Given the description of an element on the screen output the (x, y) to click on. 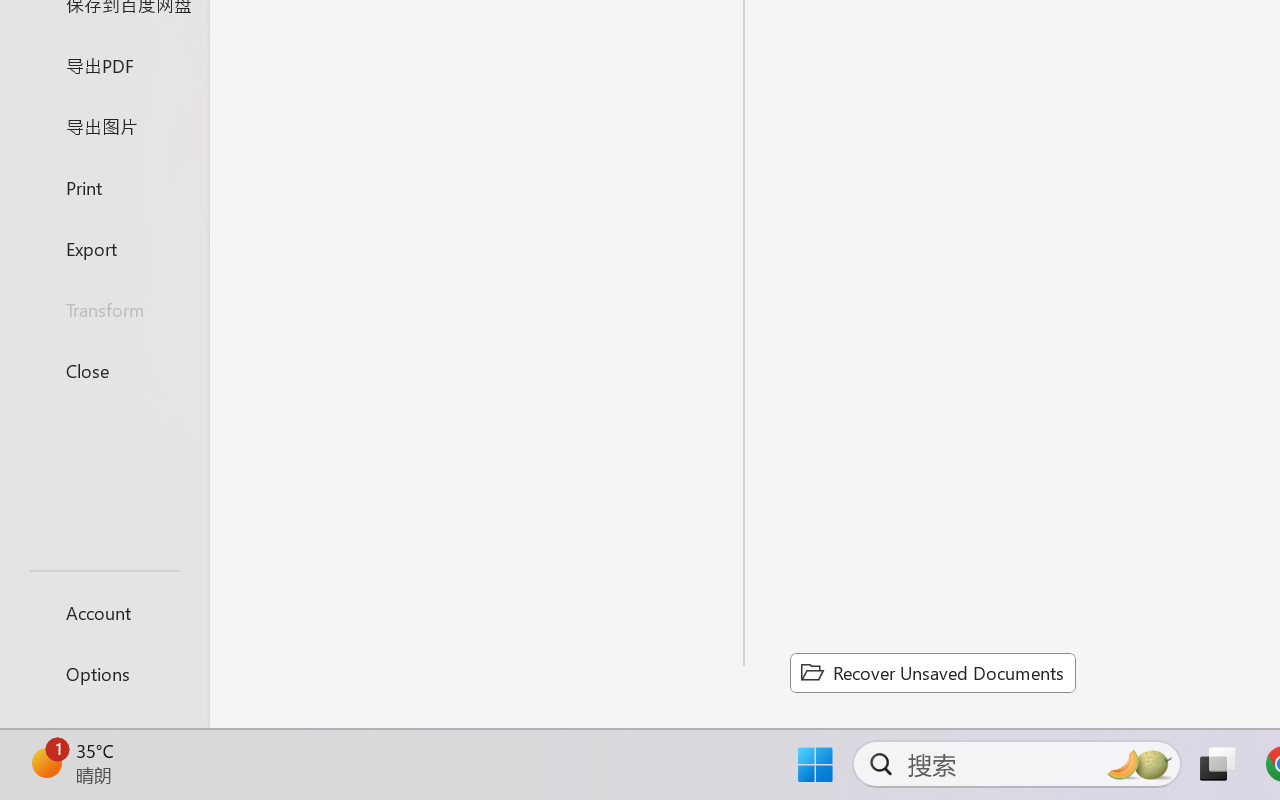
Options (104, 673)
Account (104, 612)
Recover Unsaved Documents (932, 672)
Export (104, 248)
Print (104, 186)
Transform (104, 309)
